Given the description of an element on the screen output the (x, y) to click on. 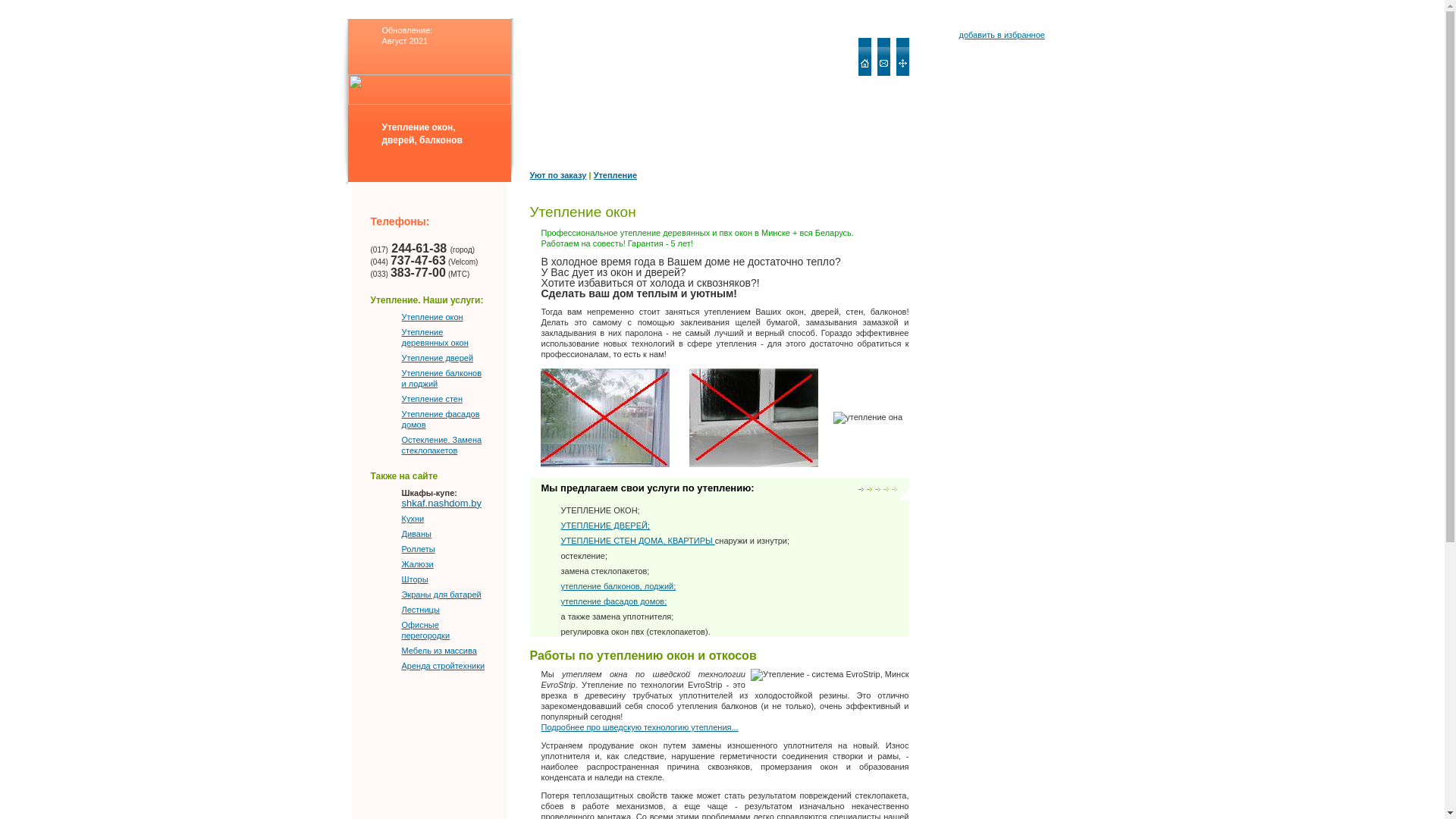
shkaf.nashdom.by Element type: text (441, 508)
